Given the description of an element on the screen output the (x, y) to click on. 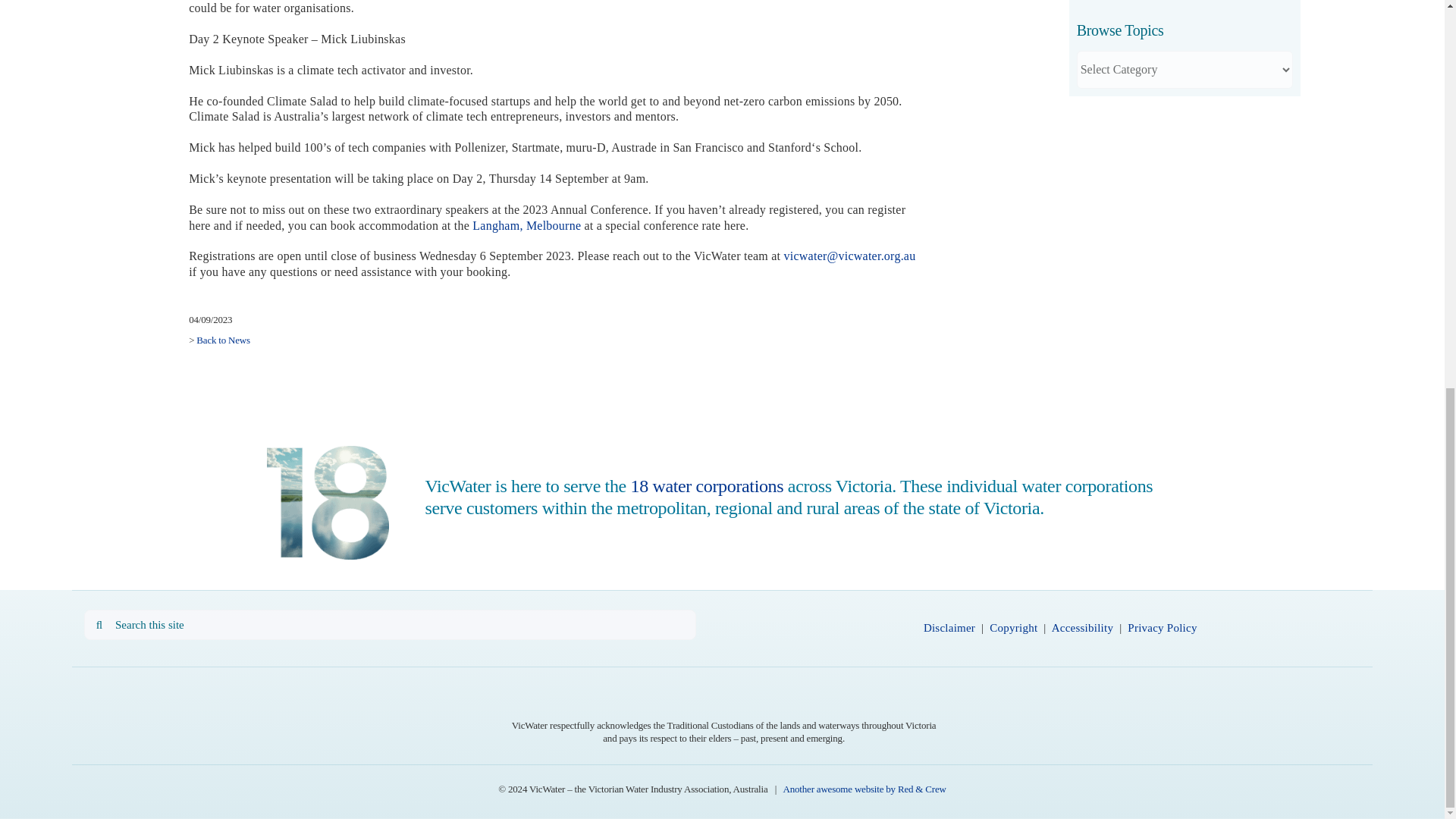
Privacy Policy (1161, 627)
18 water corporations (707, 485)
Copyright (1013, 627)
Back to News (223, 339)
Accessibility (1082, 627)
Langham, Melbourne (525, 225)
Disclaimer (949, 627)
